Given the description of an element on the screen output the (x, y) to click on. 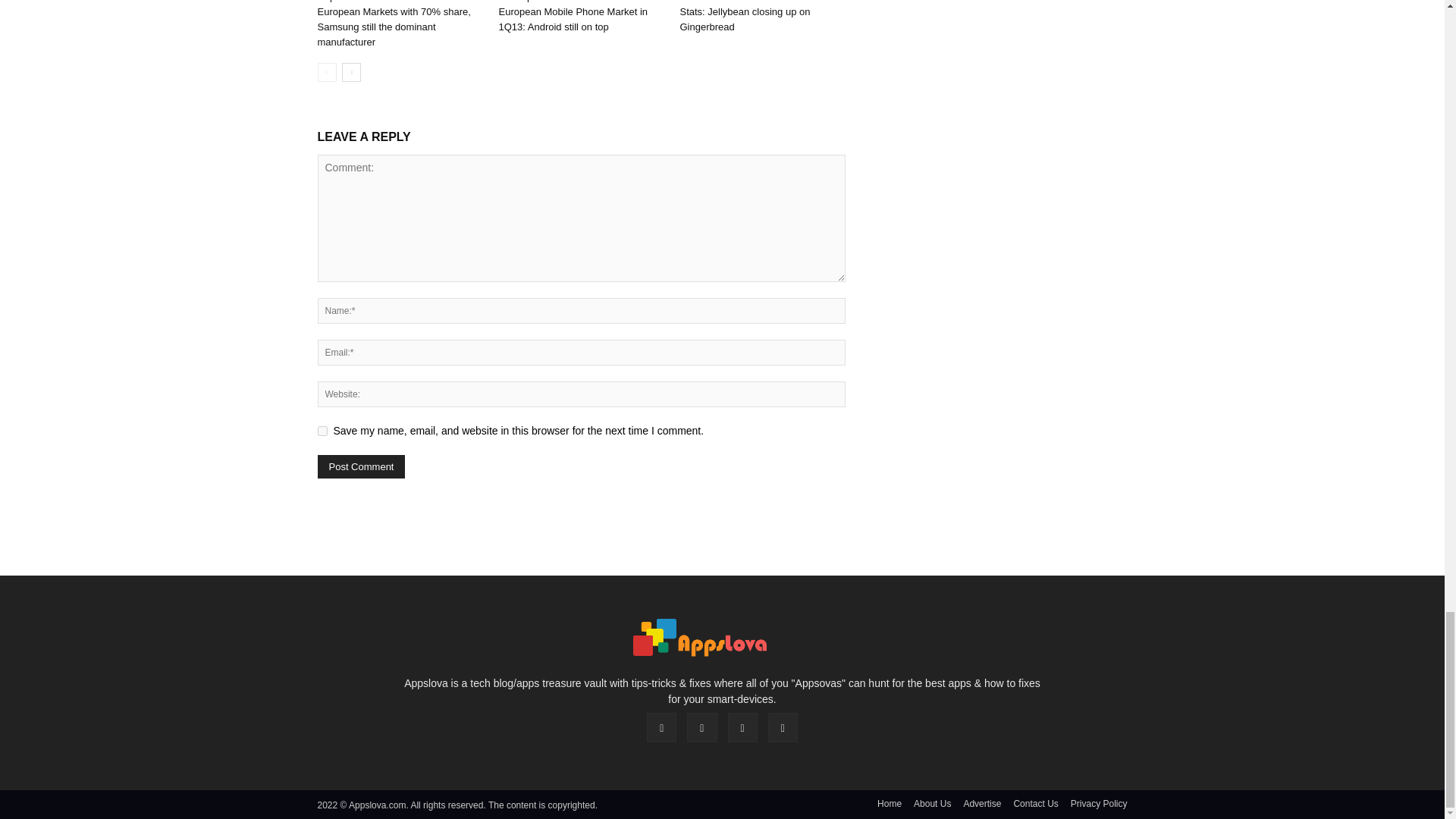
Post Comment (360, 466)
yes (321, 430)
